Given the description of an element on the screen output the (x, y) to click on. 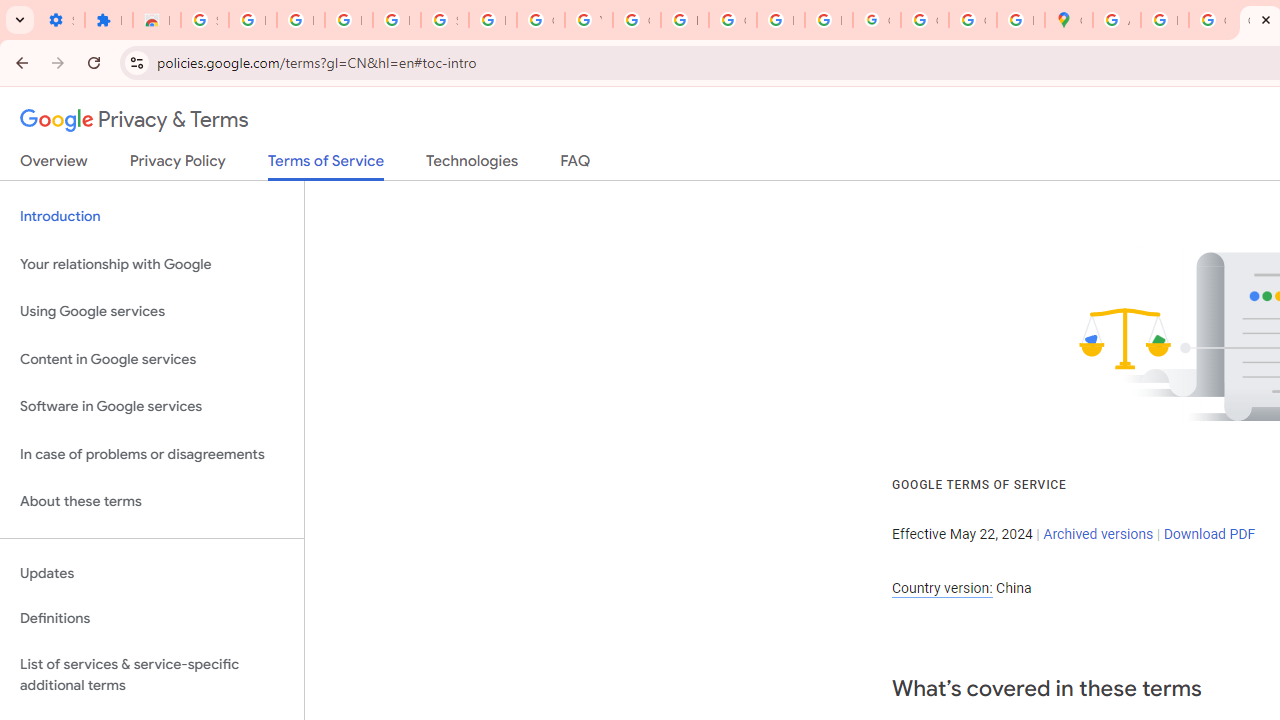
Archived versions (1098, 533)
Privacy & Terms (134, 120)
https://scholar.google.com/ (684, 20)
Privacy Policy (177, 165)
